Given the description of an element on the screen output the (x, y) to click on. 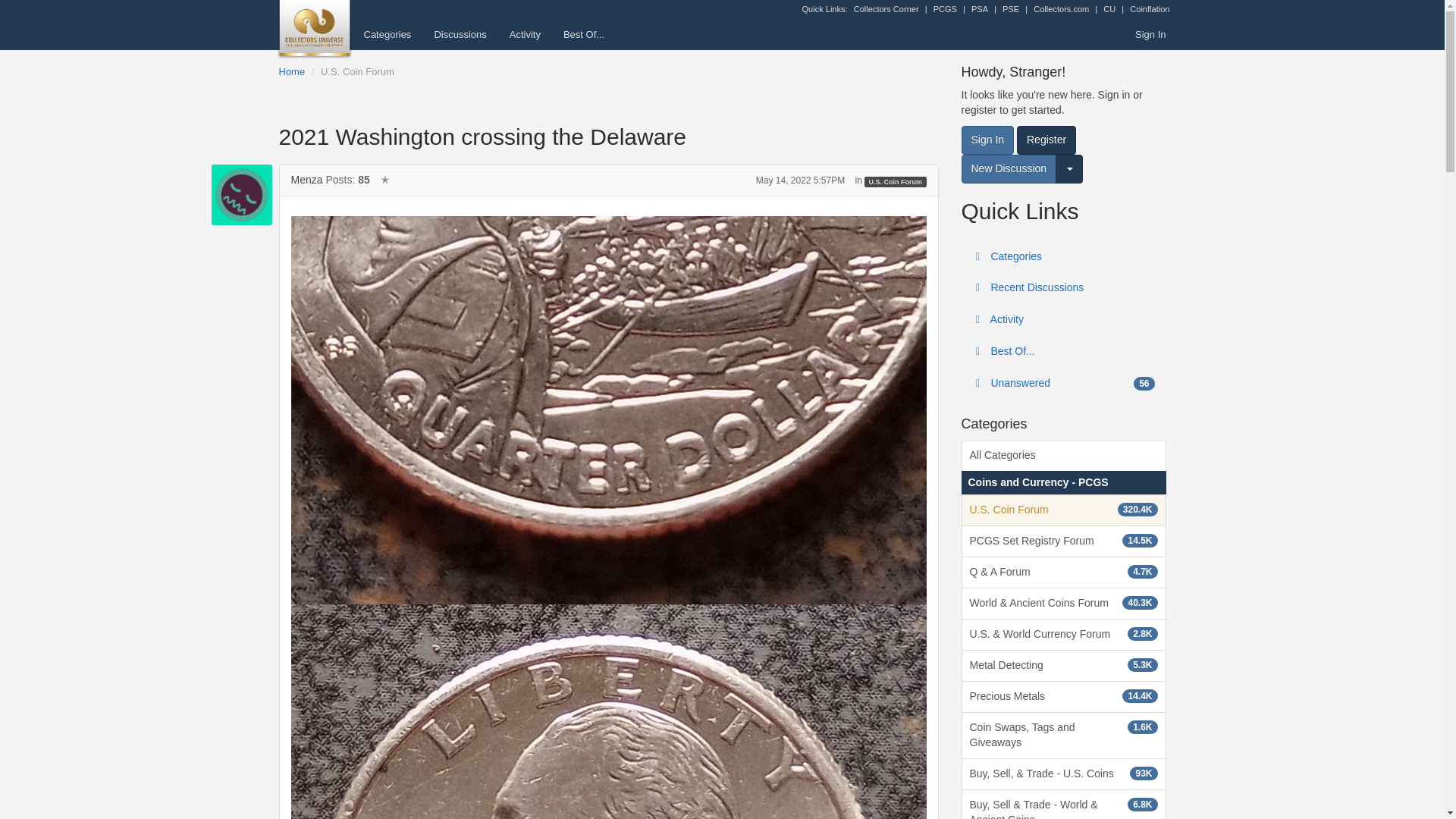
CU (1109, 8)
Menza (240, 194)
Collectors.com (1061, 8)
Discussions (459, 34)
Coinflation - Measuring the Metal Value of Coins (1149, 8)
Activity (524, 34)
PCGS - Professional Coin Grading (944, 8)
May 14, 2022 5:57PM (799, 180)
May 14, 2022 5:57PM (799, 180)
PSA - Professional SportsCard Authenticators (979, 8)
